Given the description of an element on the screen output the (x, y) to click on. 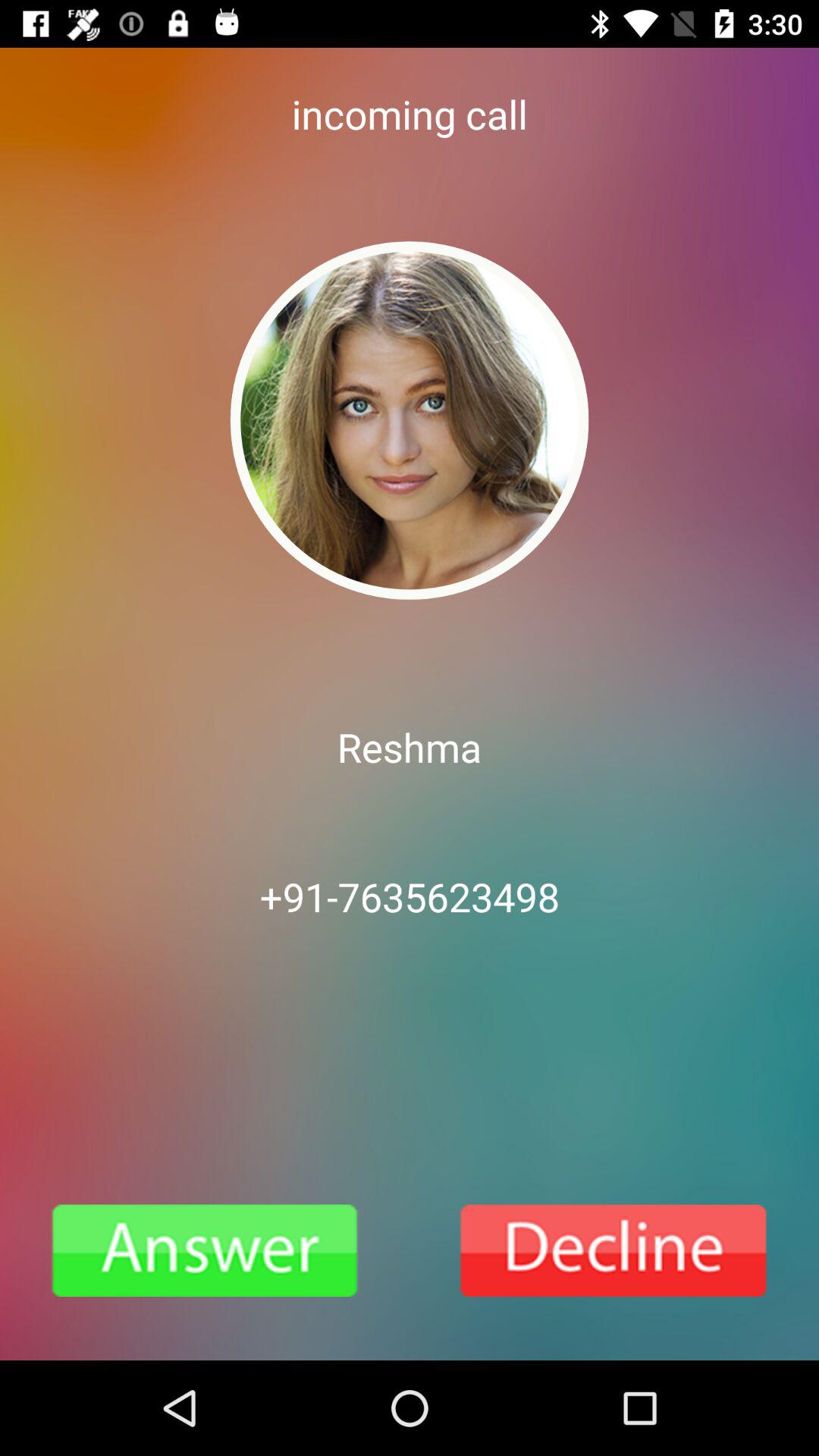
select icon at the bottom right corner (614, 1250)
